Given the description of an element on the screen output the (x, y) to click on. 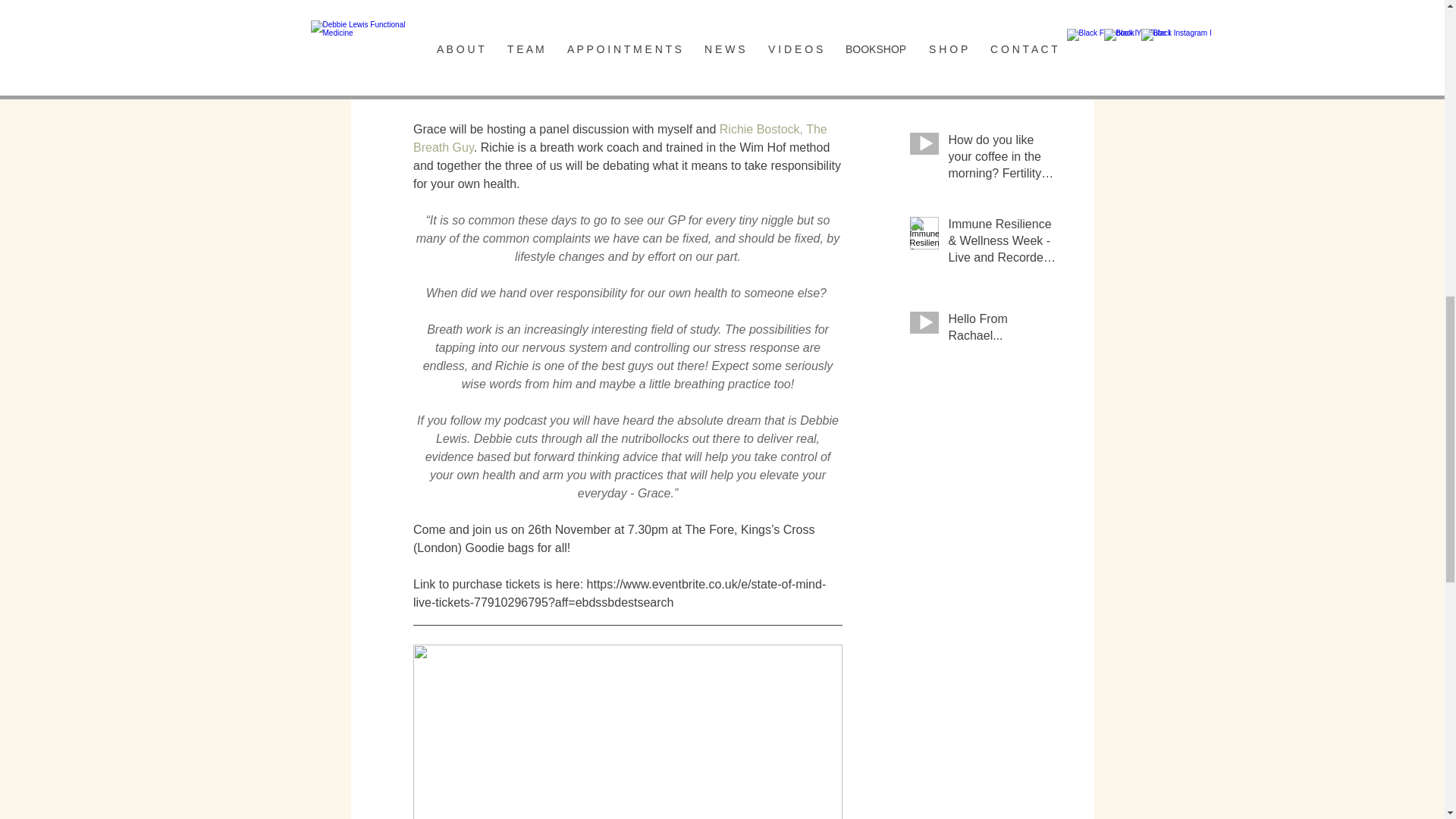
Nutritional Therapist Grace Kingswell (511, 92)
Hello From Rachael... (1002, 331)
Richie Bostock, The Breath Guy (620, 137)
Winter Gratitude (1002, 65)
Omega 3 and Fertility (1002, 7)
